Given the description of an element on the screen output the (x, y) to click on. 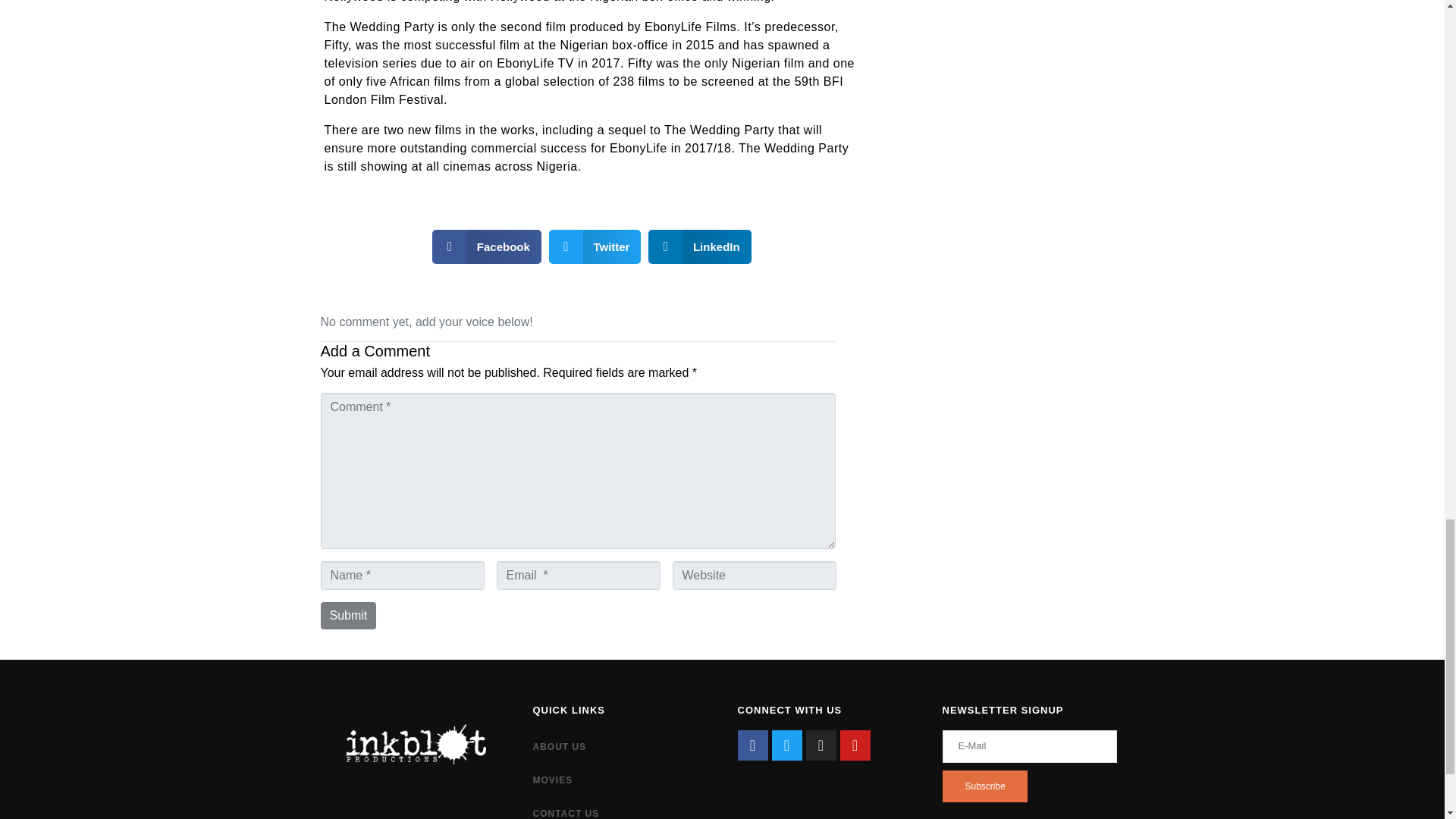
MOVIES (619, 779)
Submit (347, 615)
CONTACT US (619, 807)
Subscribe (984, 786)
ABOUT US (619, 746)
